Given the description of an element on the screen output the (x, y) to click on. 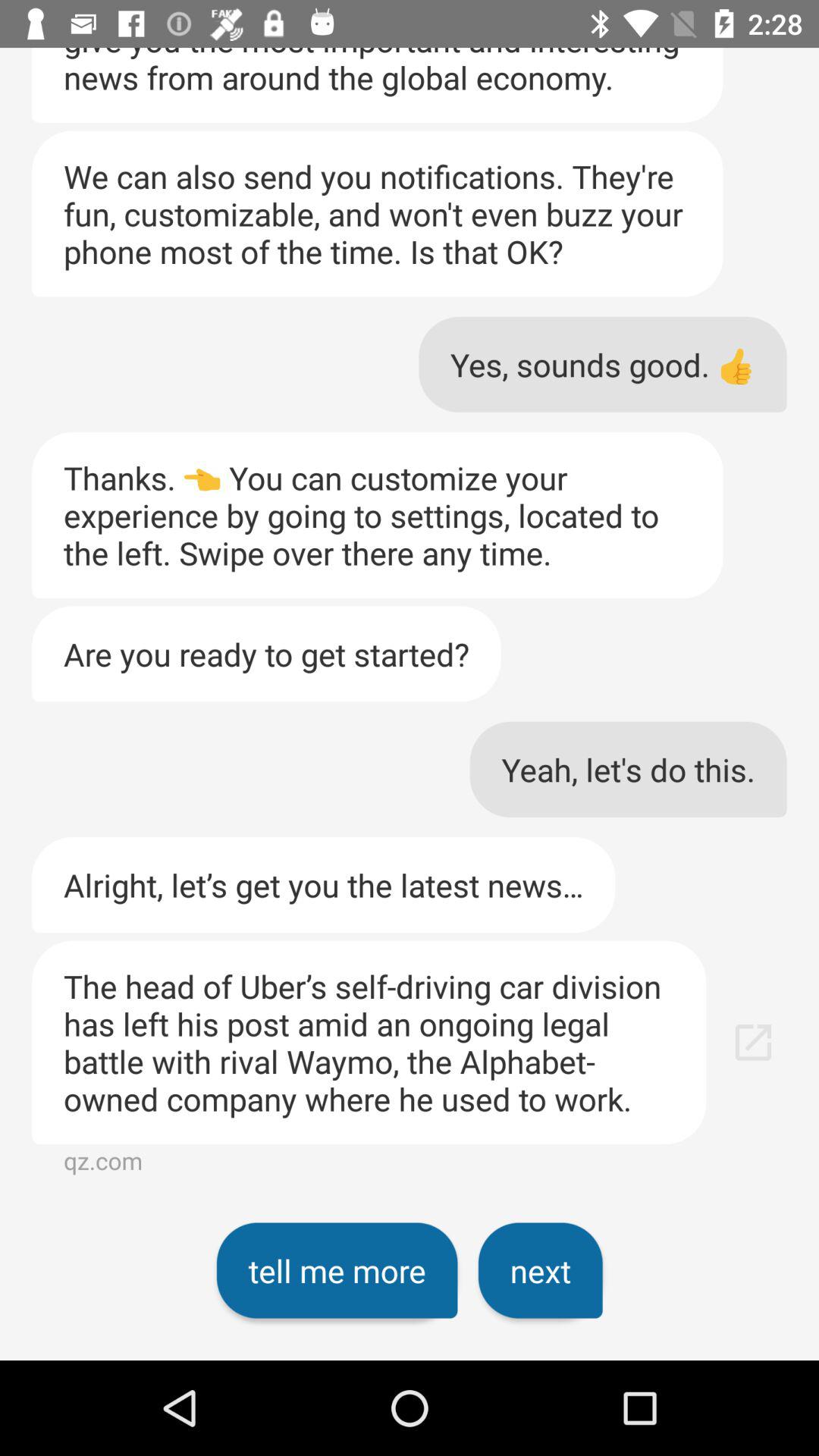
press next item (540, 1270)
